Given the description of an element on the screen output the (x, y) to click on. 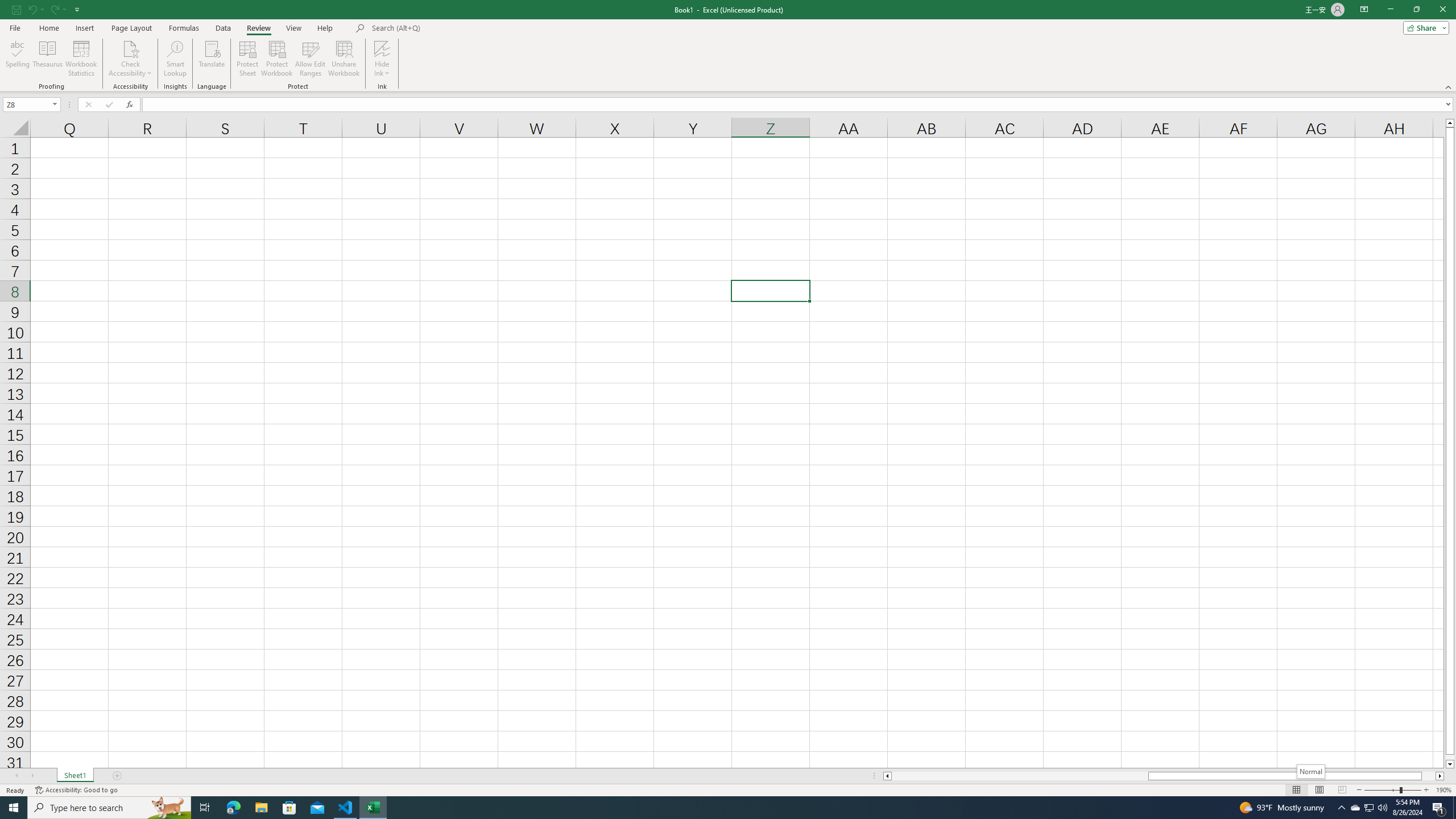
Protect Sheet... (247, 58)
Hide Ink (381, 48)
Thesaurus... (47, 58)
Hide Ink (381, 58)
